Given the description of an element on the screen output the (x, y) to click on. 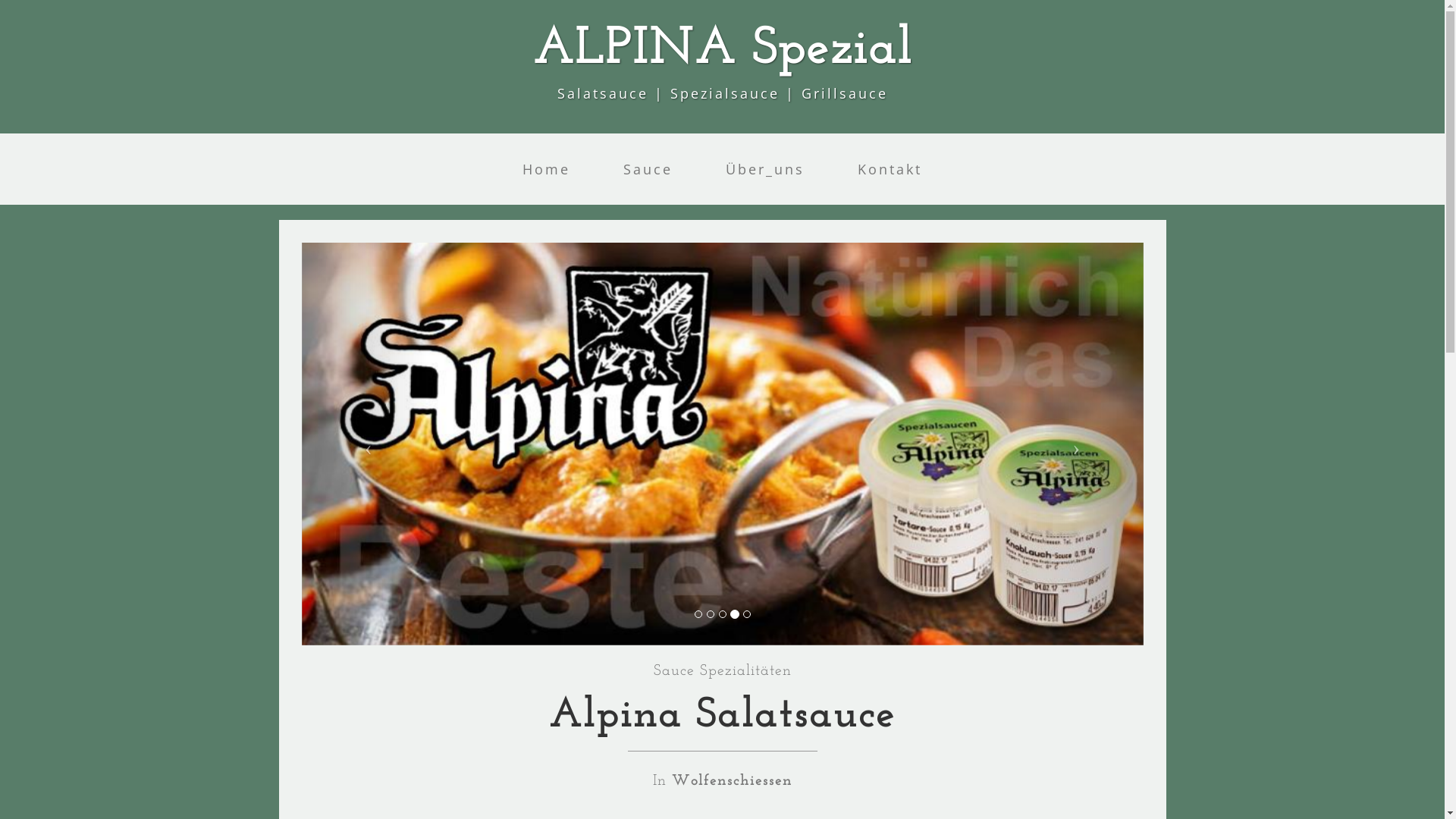
Sauce Element type: text (647, 168)
Kontakt Element type: text (889, 168)
Home Element type: text (545, 168)
